Given the description of an element on the screen output the (x, y) to click on. 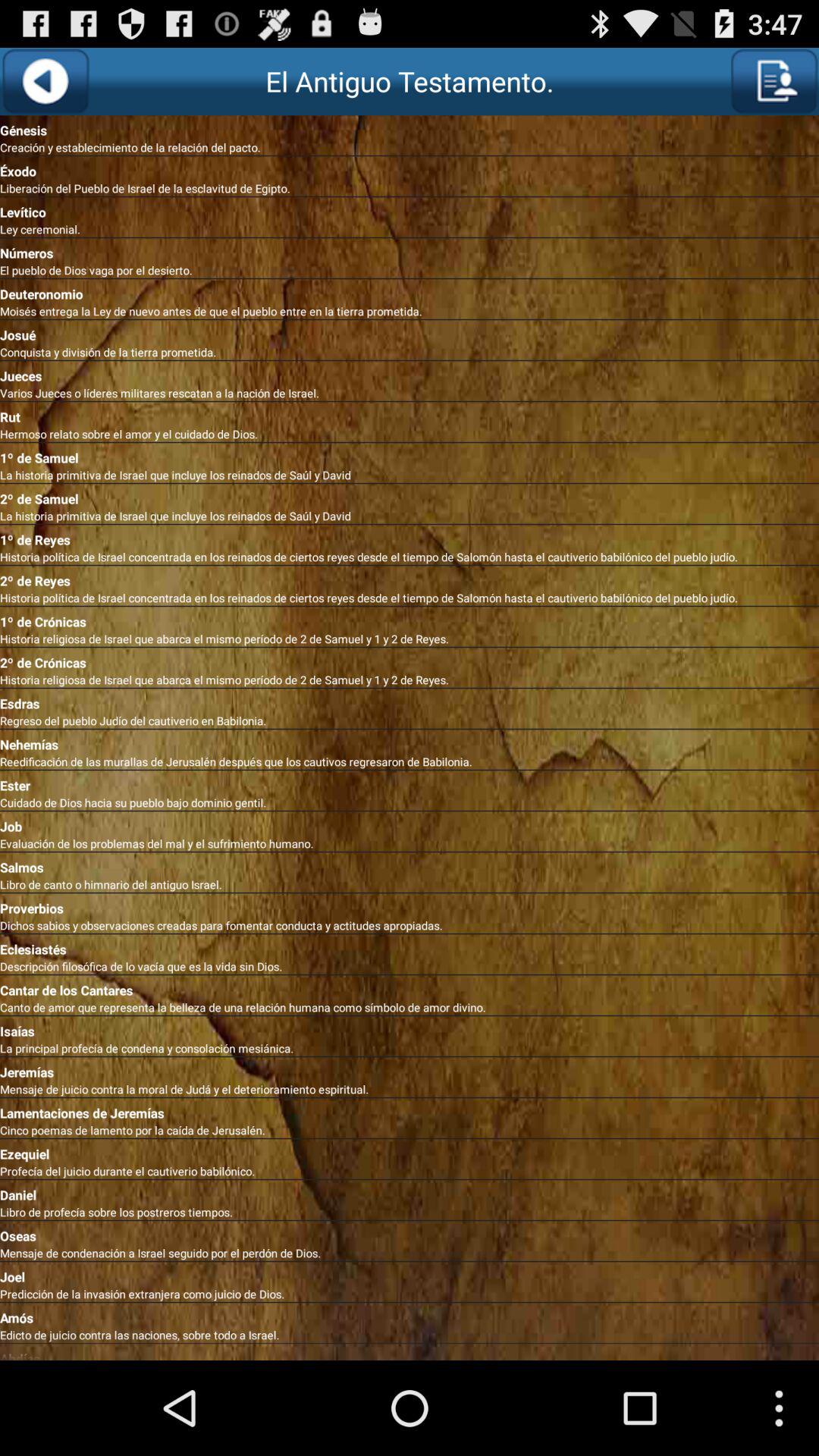
swipe until the deuteronomio app (409, 291)
